Given the description of an element on the screen output the (x, y) to click on. 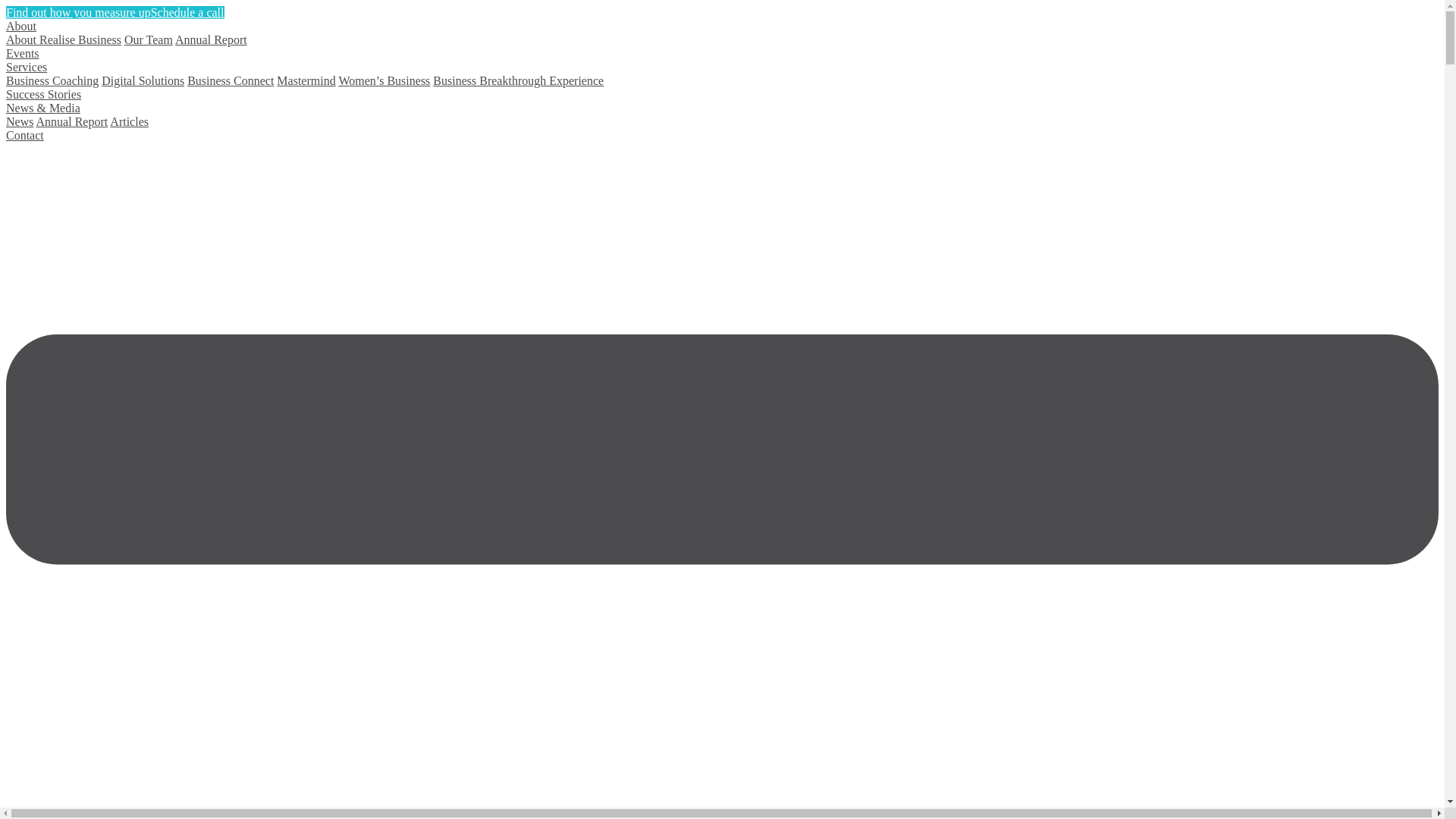
Events Element type: text (22, 53)
News Element type: text (19, 121)
Digital Solutions Element type: text (142, 80)
About Element type: text (21, 25)
Articles Element type: text (128, 121)
Business Connect Element type: text (230, 80)
News & Media Element type: text (43, 107)
Skip to content Element type: text (5, 5)
Find out how you measure up Element type: text (78, 12)
Success Stories Element type: text (43, 93)
Business Coaching Element type: text (52, 80)
Mastermind Element type: text (305, 80)
Annual Report Element type: text (72, 121)
Annual Report Element type: text (211, 39)
Services Element type: text (26, 66)
Our Team Element type: text (148, 39)
Contact Element type: text (24, 134)
About Realise Business Element type: text (63, 39)
Schedule a call Element type: text (187, 12)
Business Breakthrough Experience Element type: text (518, 80)
